Given the description of an element on the screen output the (x, y) to click on. 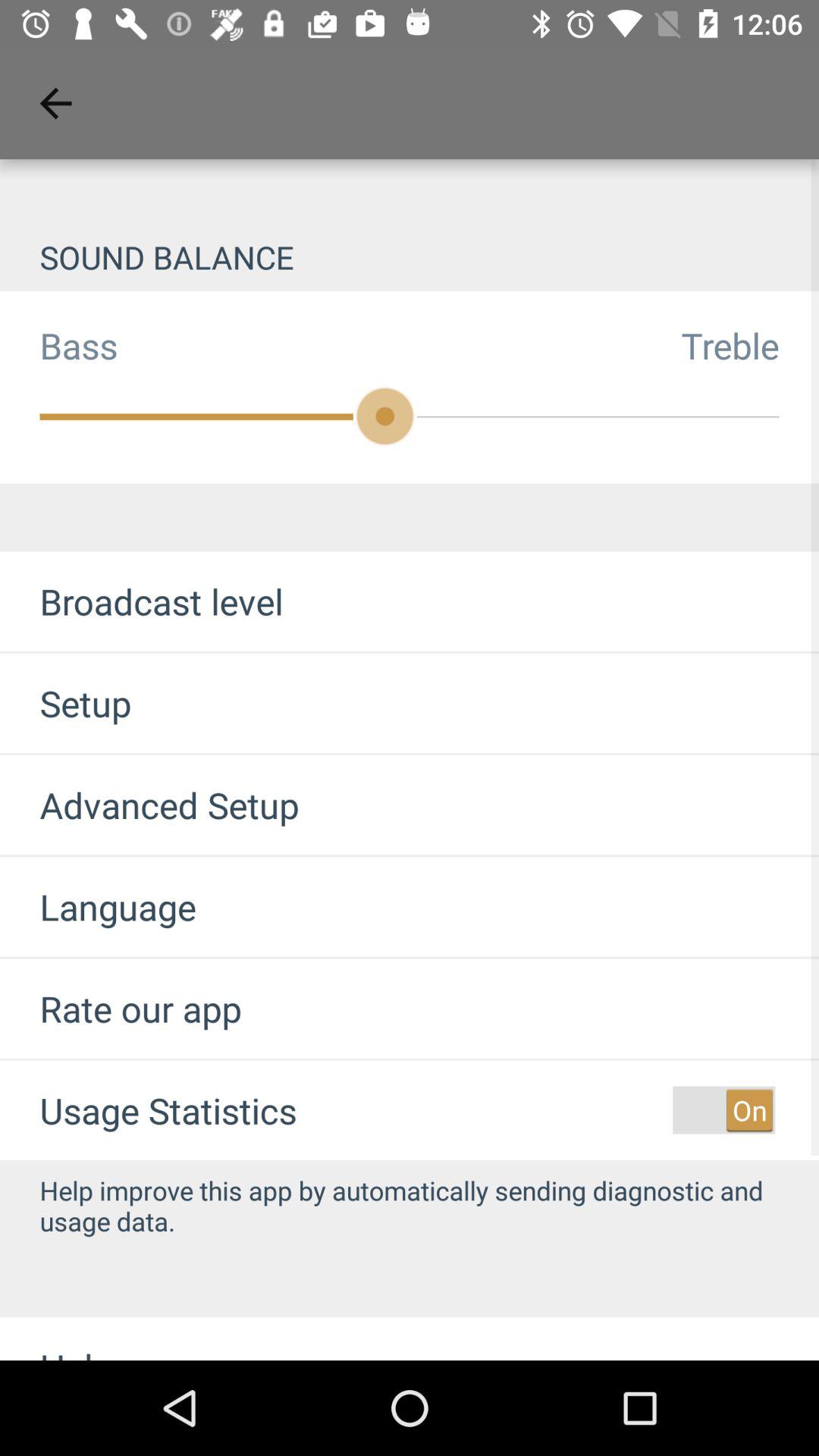
turn off the advanced setup icon (149, 804)
